Given the description of an element on the screen output the (x, y) to click on. 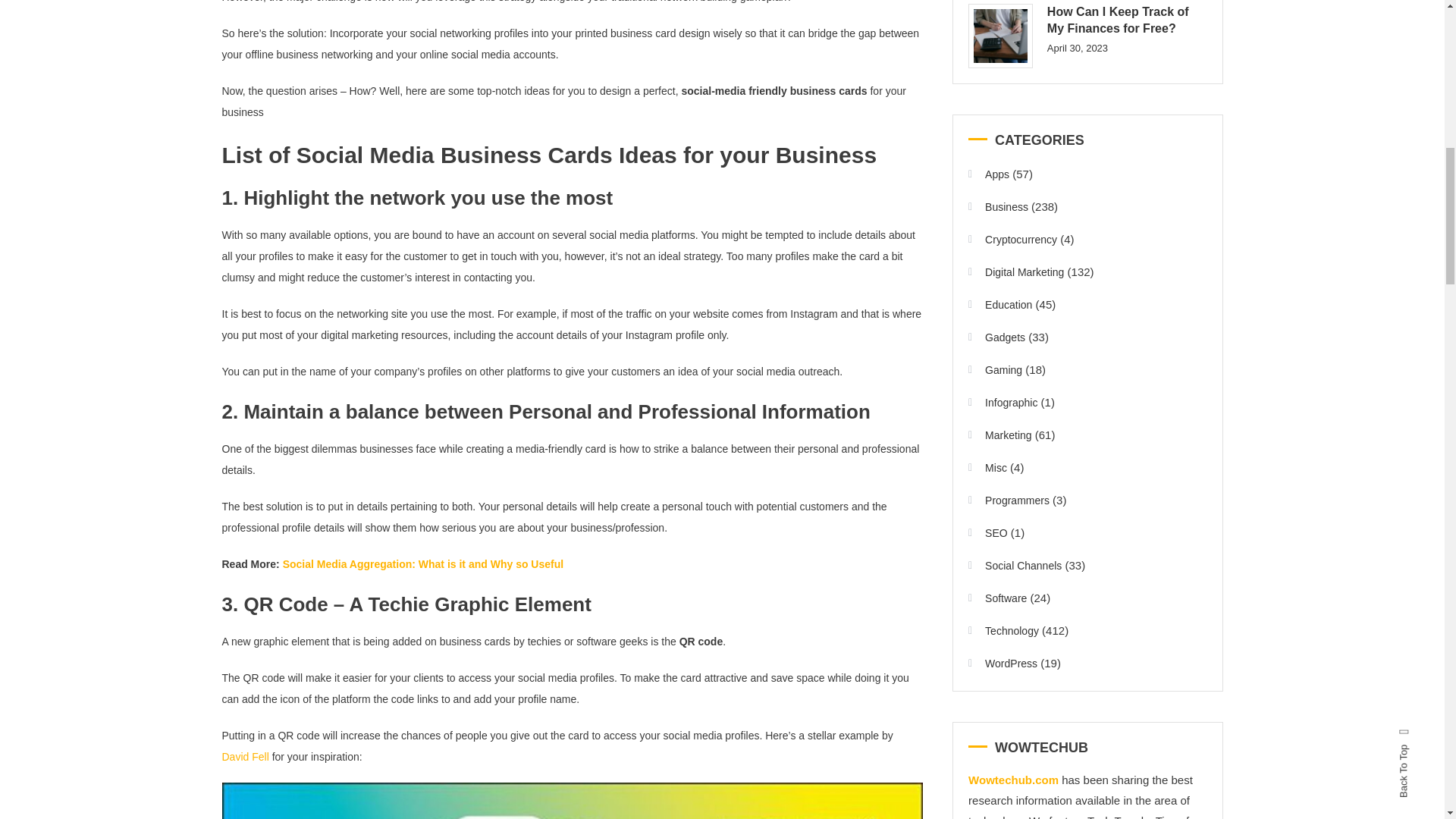
How Can I Keep Track of My Finances for Free? (1000, 35)
Social Media Aggregation: What is it and Why so Useful (423, 563)
David Fell (244, 756)
